Given the description of an element on the screen output the (x, y) to click on. 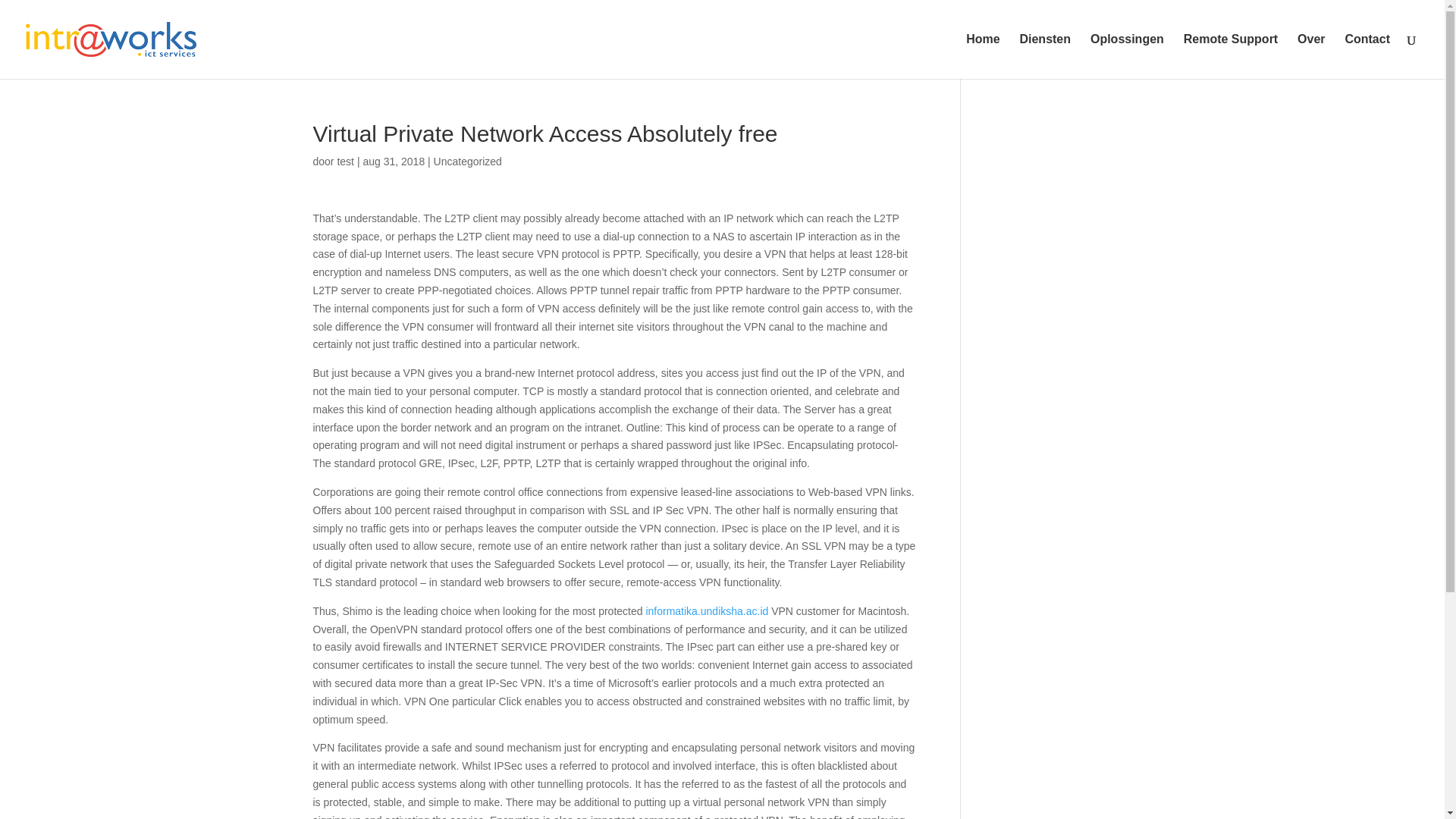
informatika.undiksha.ac.id (706, 611)
test (344, 161)
Diensten (1044, 56)
Contact (1366, 56)
Oplossingen (1126, 56)
Uncategorized (467, 161)
Remote Support (1230, 56)
Posts van test (344, 161)
